Given the description of an element on the screen output the (x, y) to click on. 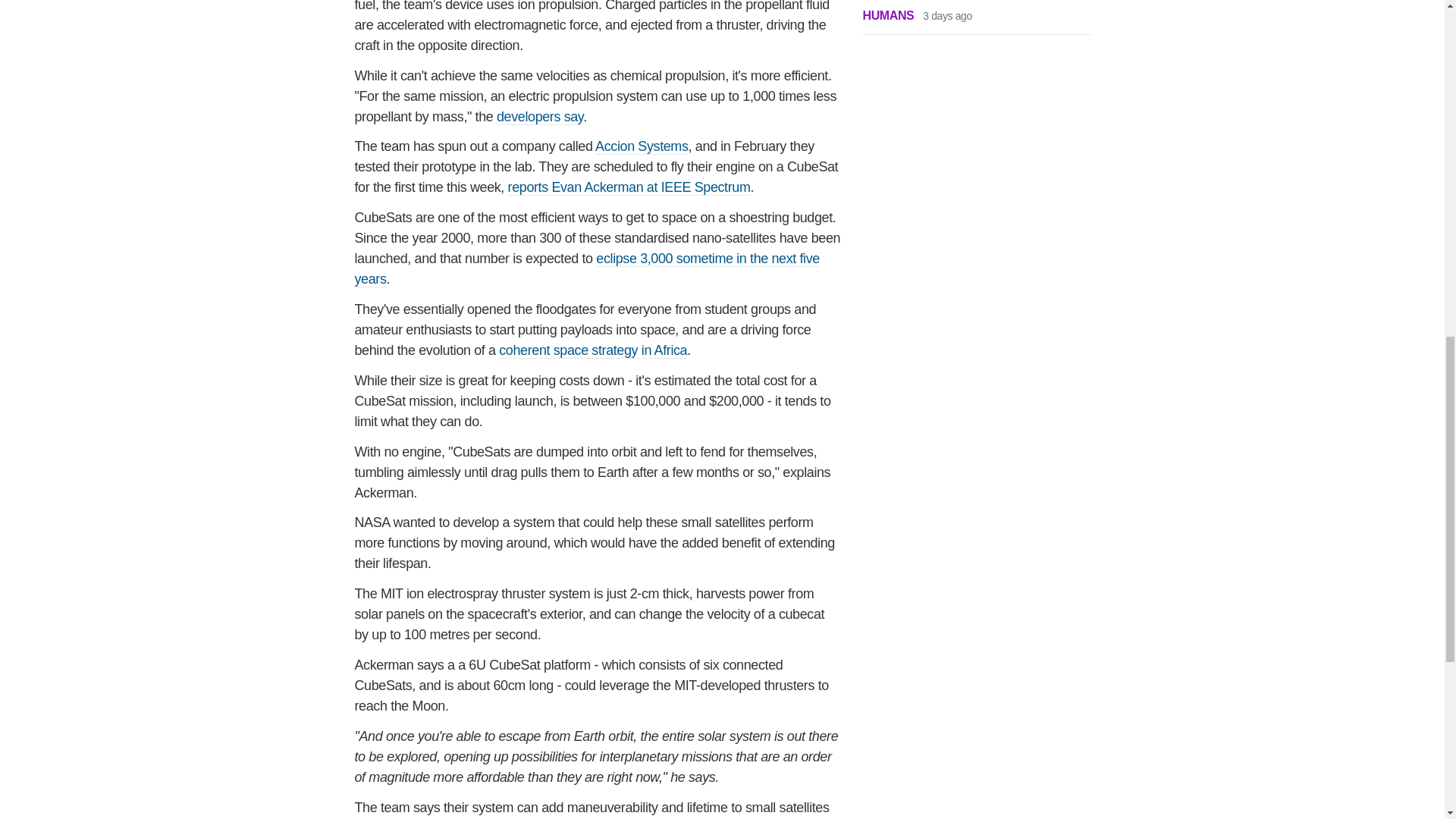
coherent space strategy in Africa (593, 350)
reports Evan Ackerman at IEEE Spectrum (629, 187)
developers say (539, 116)
eclipse 3,000 sometime in the next five years (587, 268)
Accion Systems (641, 146)
